Given the description of an element on the screen output the (x, y) to click on. 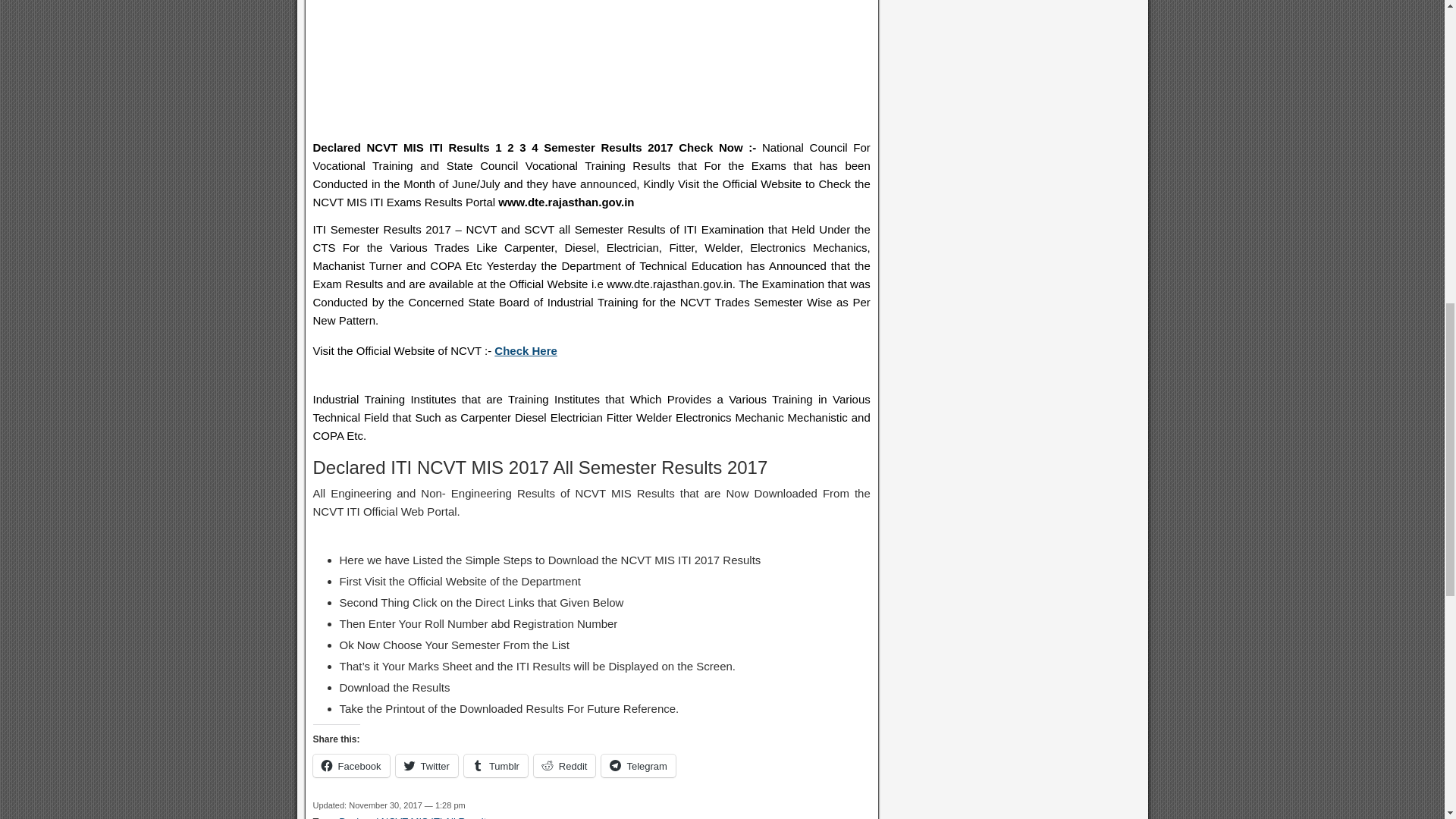
Reddit (564, 765)
Advertisement (591, 67)
Click to share on Telegram (638, 765)
Tumblr (495, 765)
Twitter (427, 765)
Check Here (526, 350)
Click to share on Twitter (427, 765)
Facebook (350, 765)
Declared NCVT MIS ITI All Results (415, 817)
Telegram (638, 765)
